Given the description of an element on the screen output the (x, y) to click on. 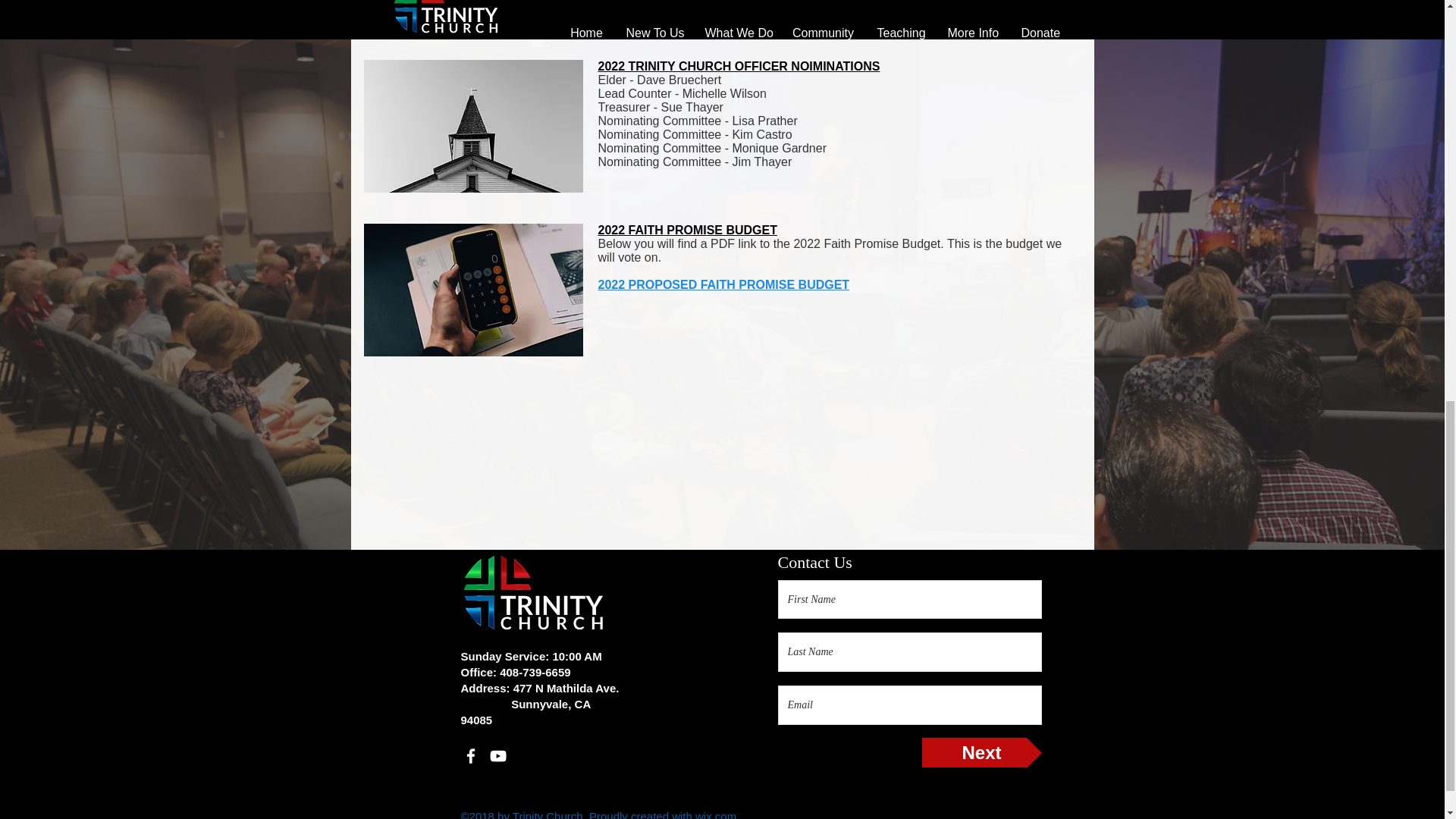
wix.com (715, 814)
Next (981, 752)
2022 PROPOSED FAITH PROMISE BUDGET (722, 284)
2022 ANNUAL ELECTIONS BALLOT (699, 12)
